Given the description of an element on the screen output the (x, y) to click on. 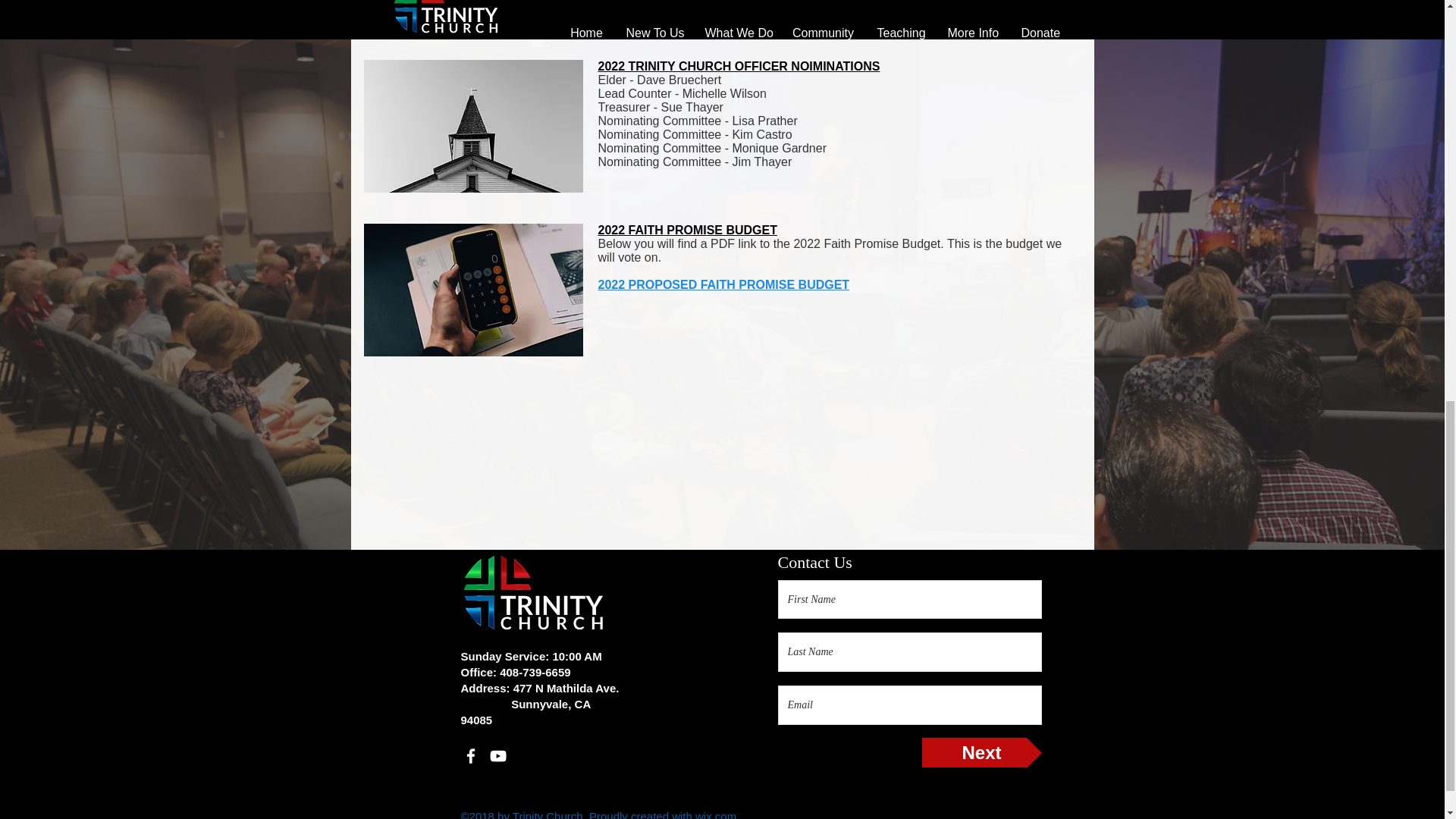
wix.com (715, 814)
Next (981, 752)
2022 PROPOSED FAITH PROMISE BUDGET (722, 284)
2022 ANNUAL ELECTIONS BALLOT (699, 12)
